Given the description of an element on the screen output the (x, y) to click on. 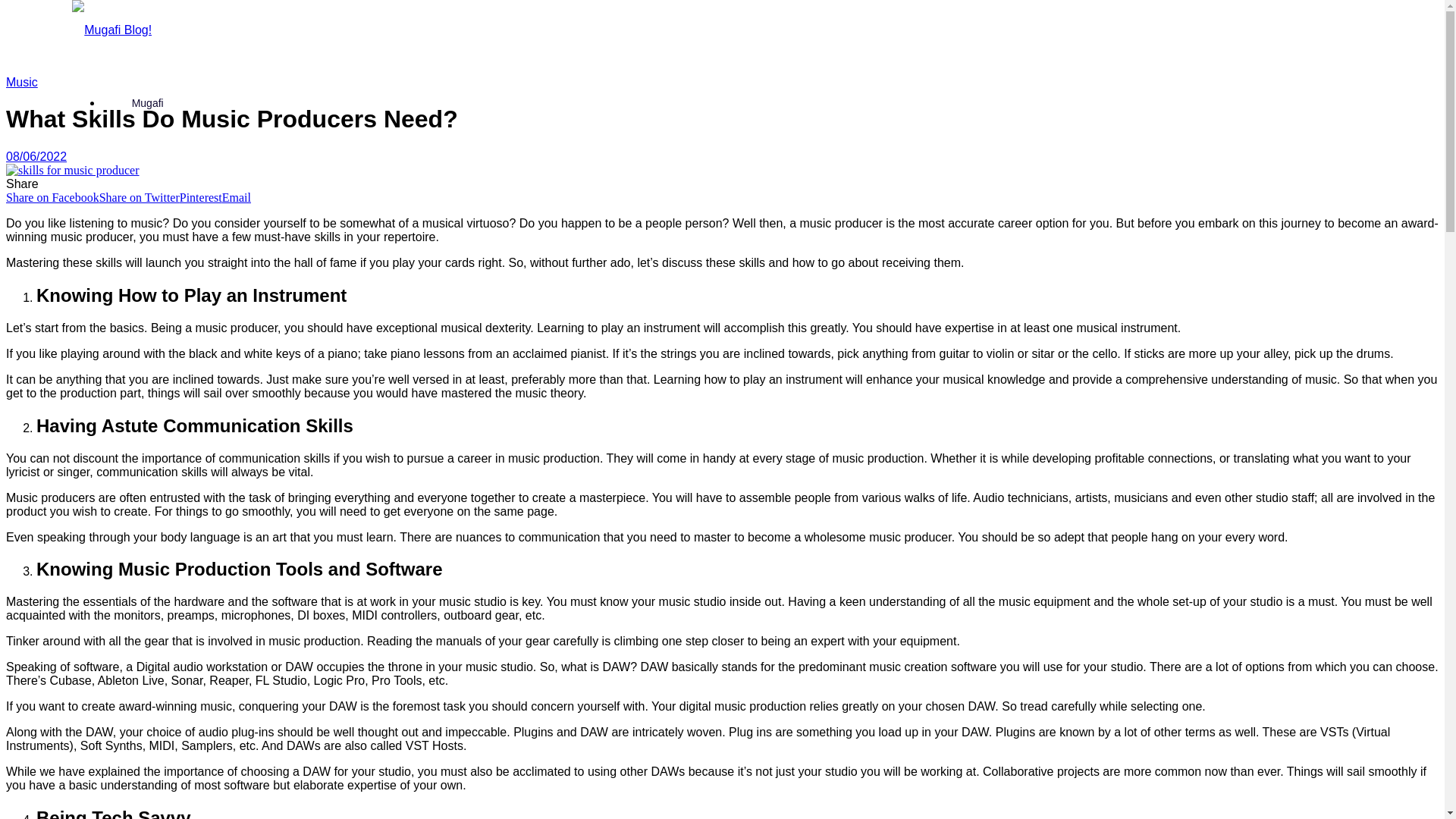
Pinterest (200, 196)
Share on Twitter (139, 196)
Music (21, 82)
Pinterest (200, 196)
Mugafi (146, 102)
Email (236, 196)
Email (236, 196)
Share on Facebook (52, 196)
Mugafi Blog! (111, 29)
Share on Twitter (139, 196)
Share on Facebook (52, 196)
What Skills Do Music Producers Need? (72, 170)
